Given the description of an element on the screen output the (x, y) to click on. 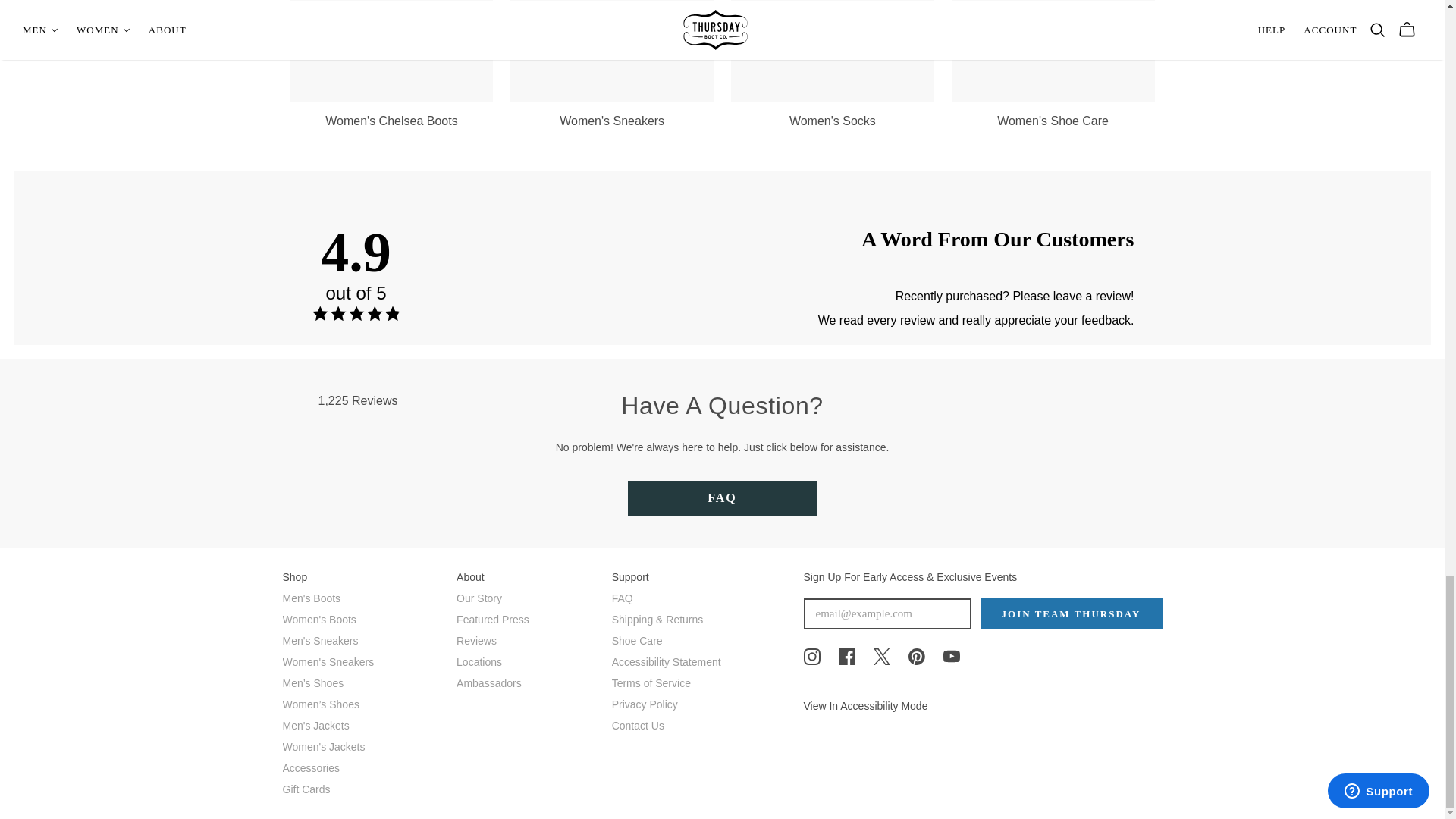
Youtube Icon (951, 656)
Pinterest Icon (916, 656)
Instagram Icon (812, 656)
Facebook Icon (847, 656)
Twitter Icon (881, 656)
